Given the description of an element on the screen output the (x, y) to click on. 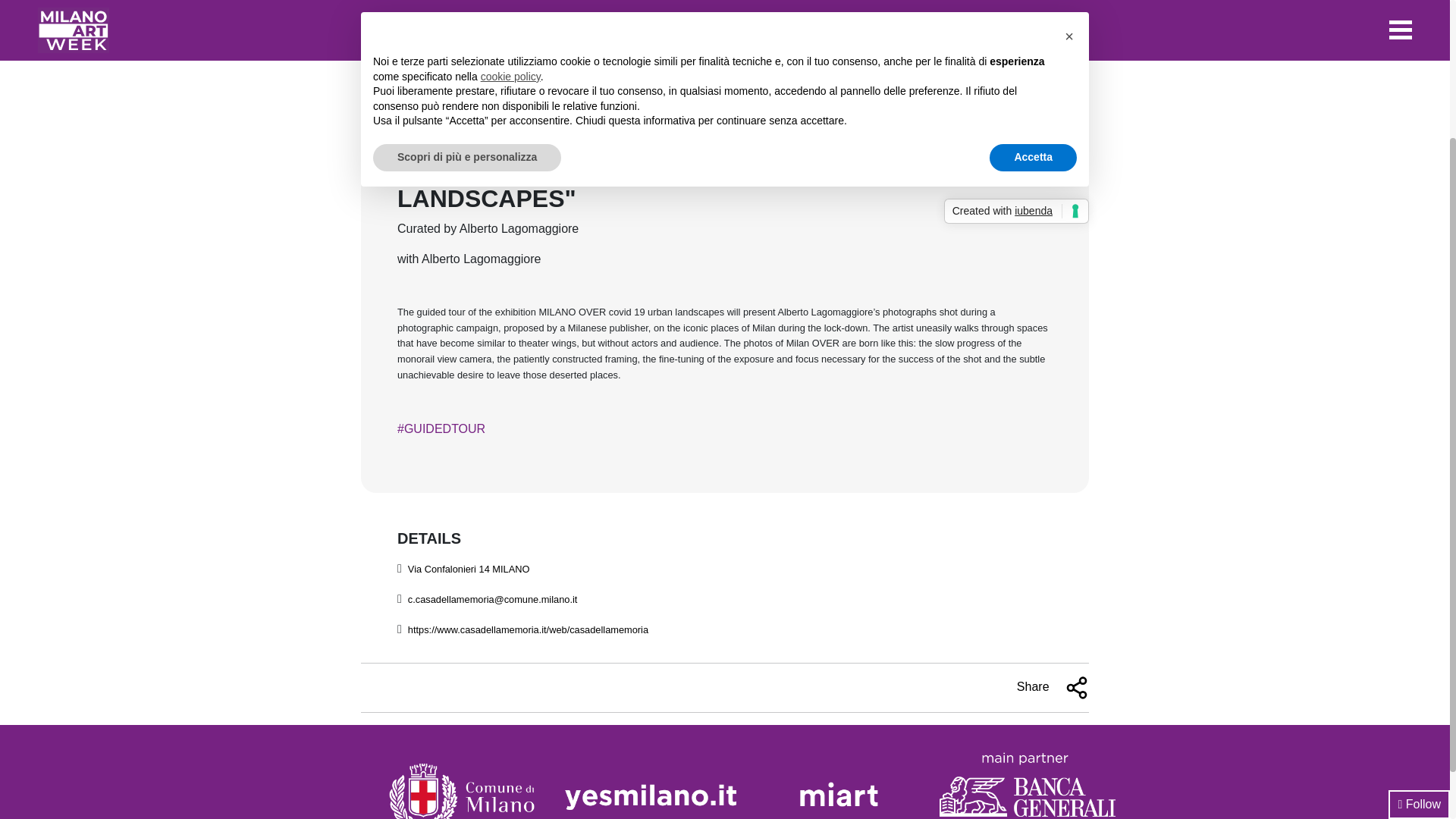
Share (1052, 687)
Via Confalonieri 14 MILANO (468, 568)
Follow (1419, 625)
Created with iubenda (1016, 32)
